Given the description of an element on the screen output the (x, y) to click on. 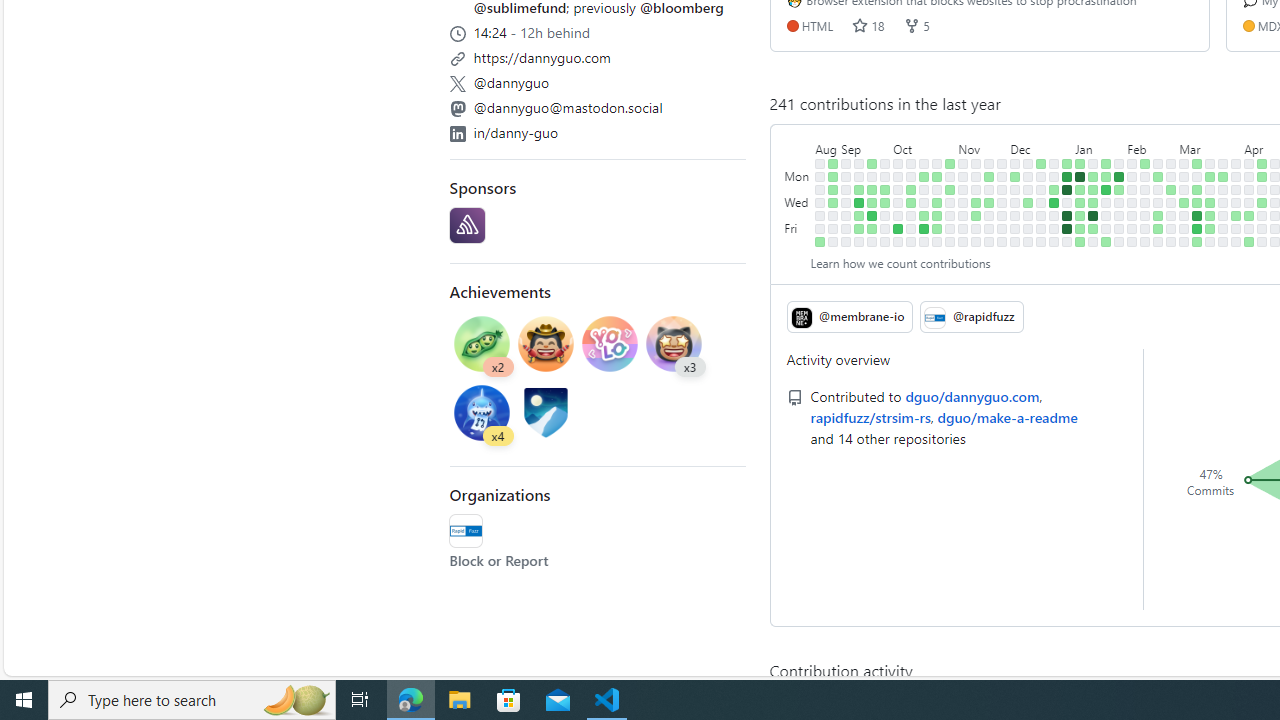
1 contribution on March 13th. (1197, 202)
No contributions on September 1st. (833, 228)
No contributions on February 13th. (1145, 189)
No contributions on January 24th. (1106, 202)
No contributions on September 4th. (846, 176)
No contributions on November 26th. (1002, 163)
2 contributions on October 26th. (937, 215)
No contributions on November 17th. (976, 228)
No contributions on December 18th. (1041, 176)
5 contributions on October 20th. (924, 228)
1 contribution on April 17th. (1262, 202)
No contributions on October 3rd. (898, 189)
1 contribution on April 4th. (1236, 215)
No contributions on December 11th. (1028, 176)
No contributions on December 25th. (1054, 176)
